Given the description of an element on the screen output the (x, y) to click on. 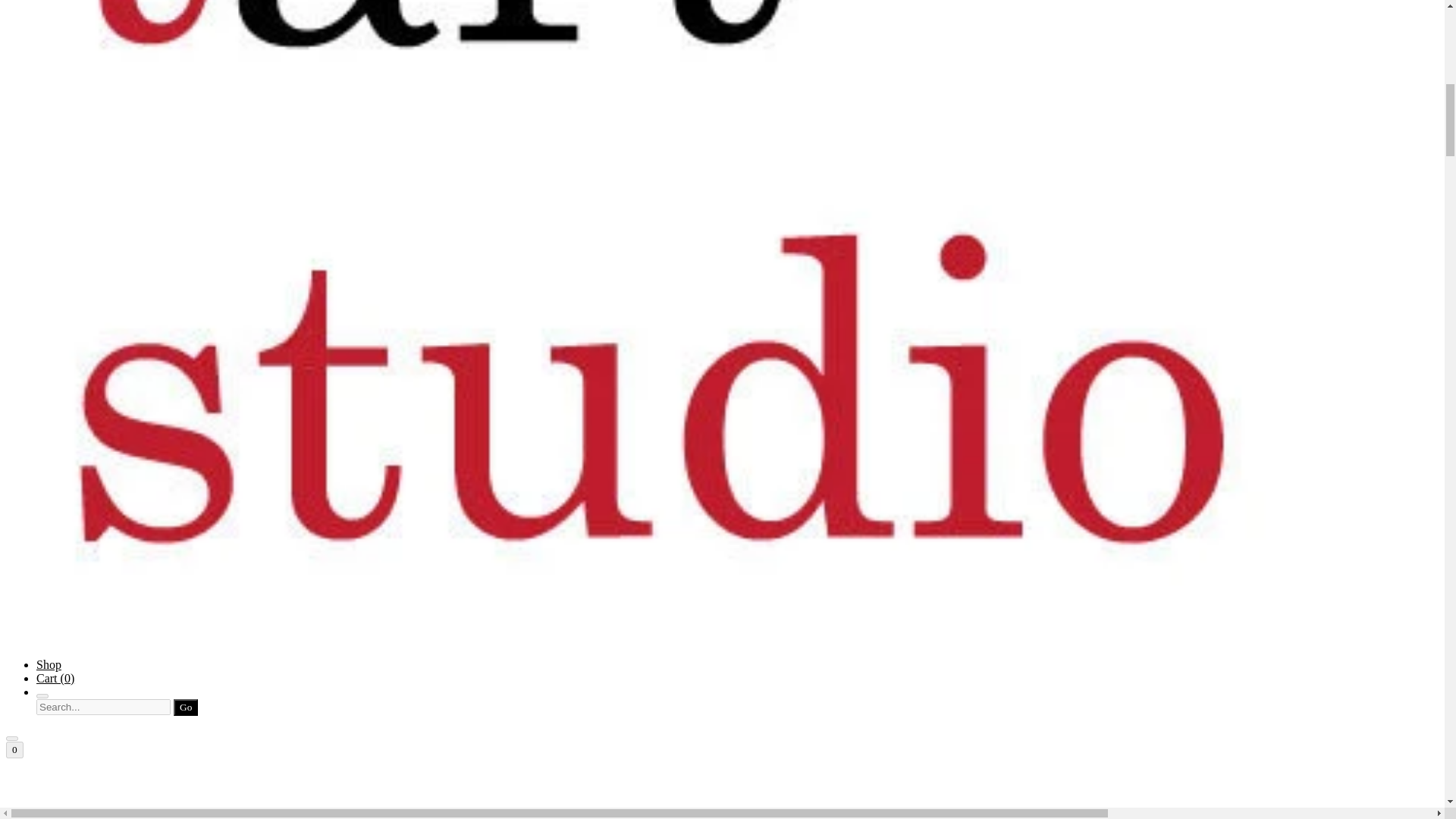
Go (185, 707)
Home (721, 796)
Go (185, 707)
0 (14, 750)
Shop (48, 664)
